Given the description of an element on the screen output the (x, y) to click on. 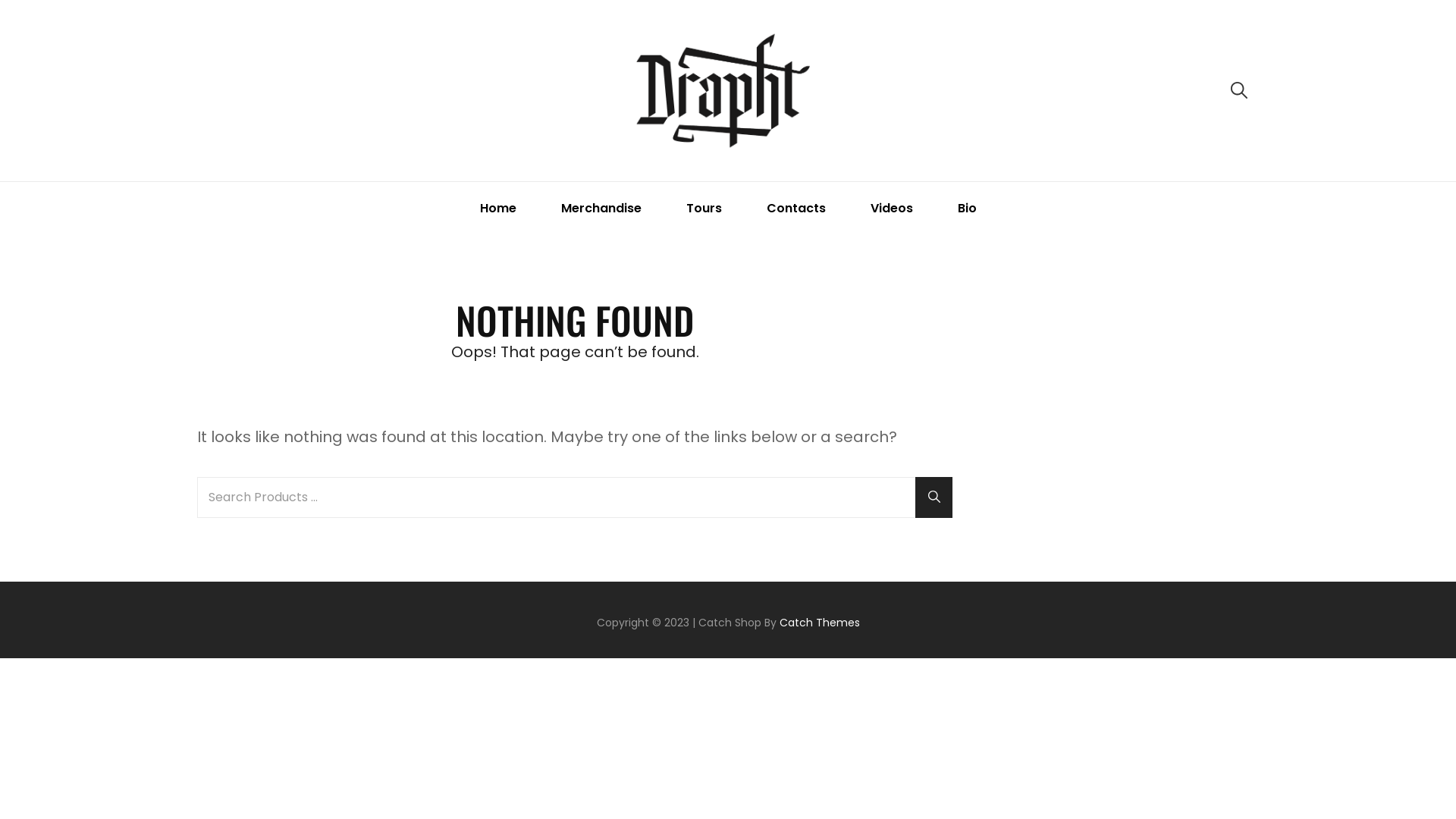
Merchandise Element type: text (600, 208)
Search Element type: text (933, 496)
Videos Element type: text (890, 208)
Bio Element type: text (967, 208)
Contacts Element type: text (796, 208)
Home Element type: text (497, 208)
Catch Themes Element type: text (819, 622)
Tours Element type: text (703, 208)
